Given the description of an element on the screen output the (x, y) to click on. 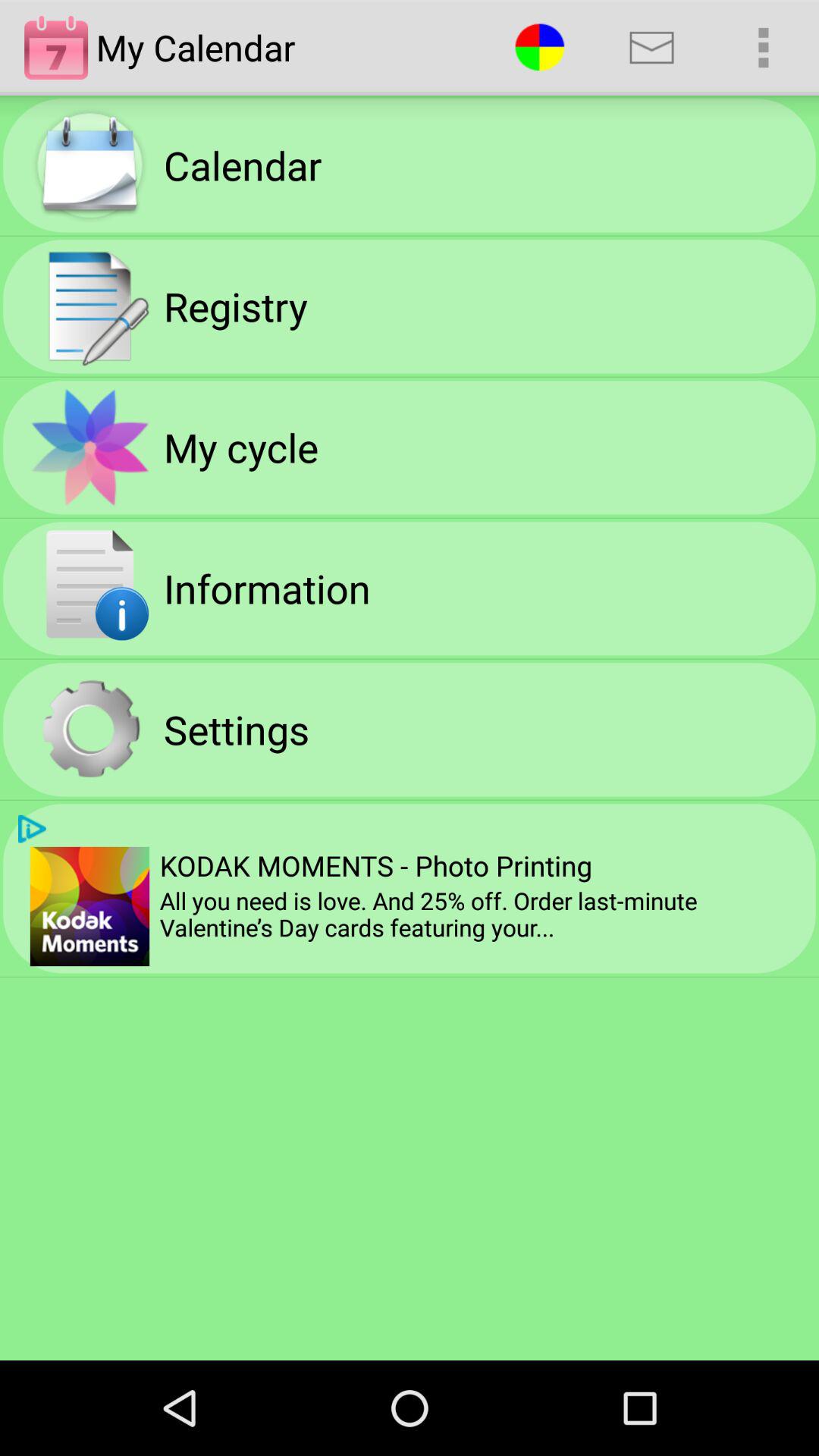
launch app above the kodak moments photo app (651, 47)
